Given the description of an element on the screen output the (x, y) to click on. 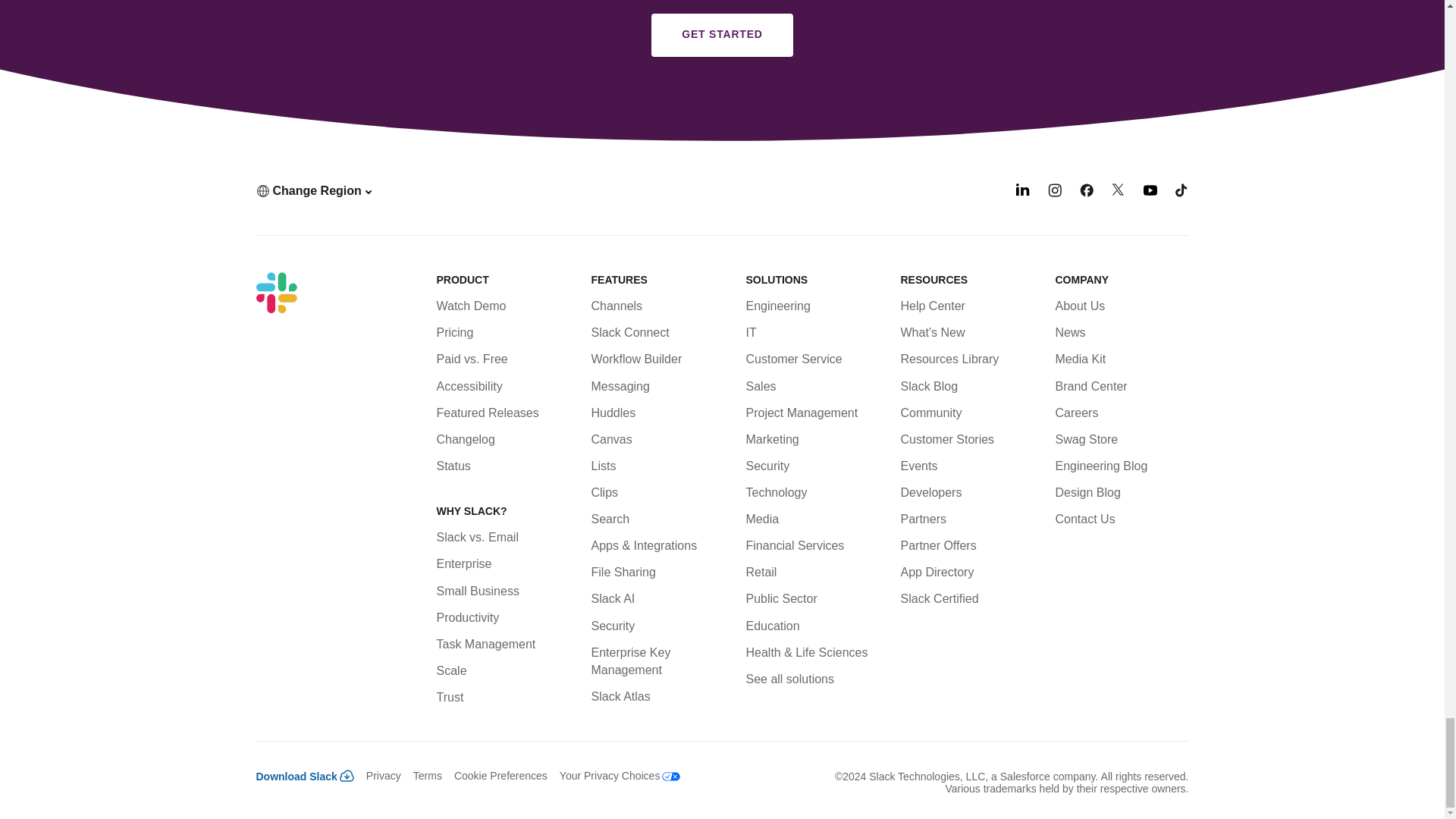
Your Privacy Choices (614, 775)
Slack (276, 291)
TikTok (1181, 192)
Instagram (1054, 192)
LinkedIn (1022, 192)
X (1118, 192)
YouTube (1149, 192)
Facebook (1086, 192)
